Given the description of an element on the screen output the (x, y) to click on. 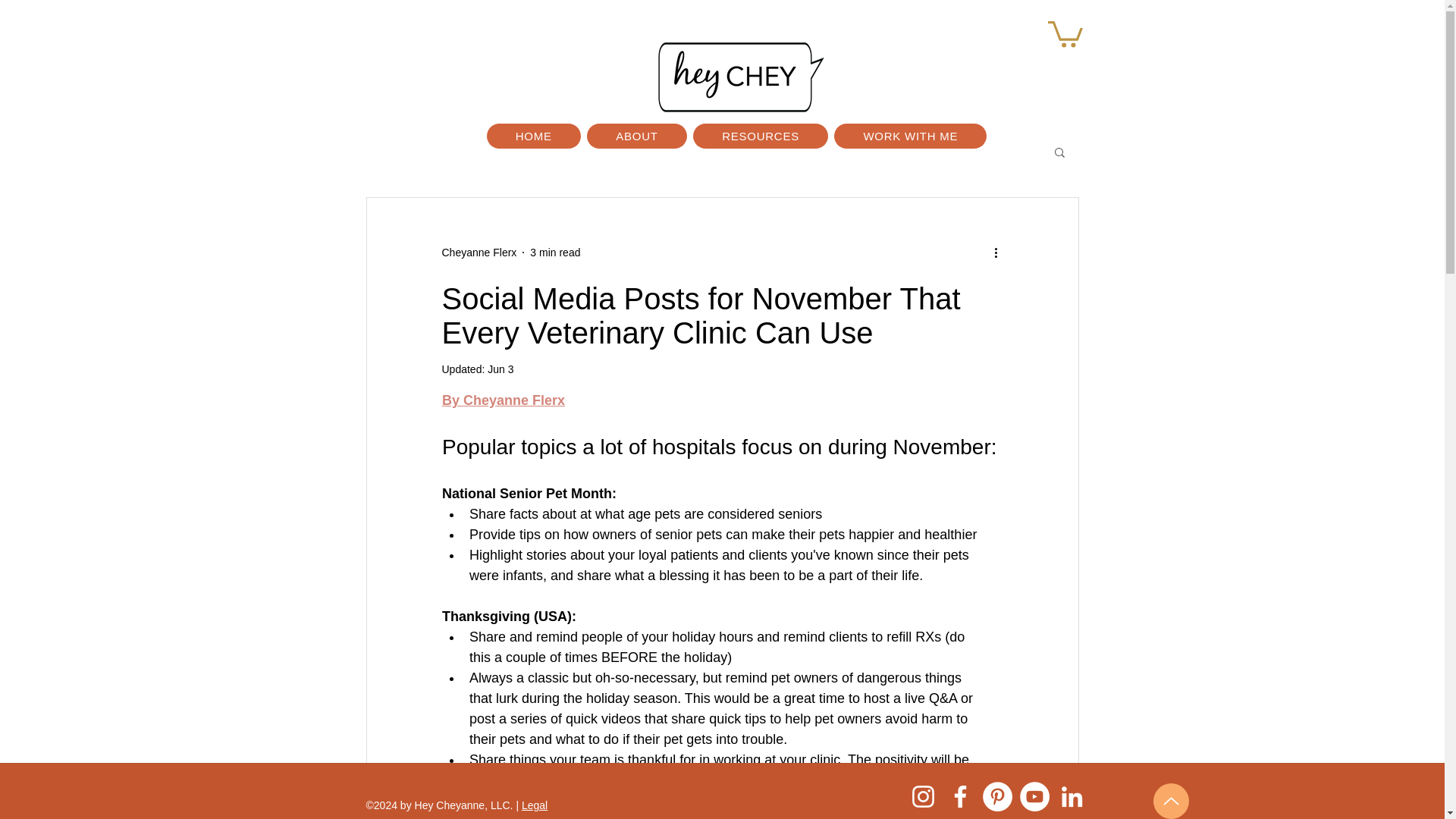
ABOUT (636, 135)
Legal (534, 805)
Cheyanne Flerx (478, 252)
Cheyanne Flerx (478, 252)
3 min read (554, 251)
By Cheyanne Flerx (502, 400)
Jun 3 (500, 369)
HOME (533, 135)
WORK WITH ME (910, 135)
